Given the description of an element on the screen output the (x, y) to click on. 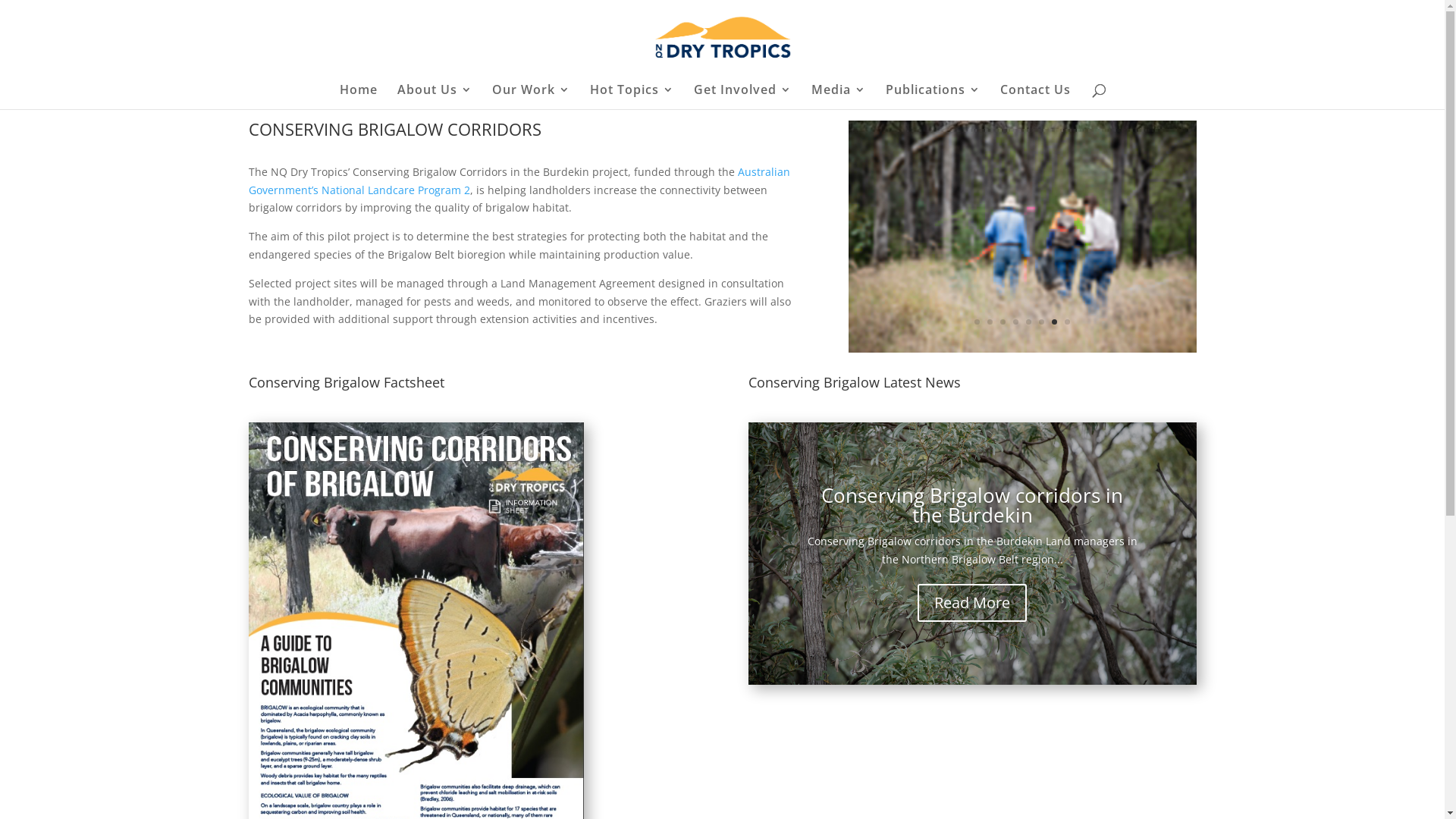
About Us Element type: text (434, 96)
5 Element type: text (1028, 321)
Publications Element type: text (932, 96)
3 Element type: text (1002, 321)
Read More Element type: text (971, 602)
Protecting Brigalow 1 Element type: hover (1022, 348)
Conserving Brigalow corridors in the Burdekin Element type: text (972, 504)
Get Involved Element type: text (741, 96)
7 Element type: text (1054, 321)
Our Work Element type: text (530, 96)
8 Element type: text (1067, 321)
4 Element type: text (1015, 321)
2 Element type: text (989, 321)
Media Element type: text (838, 96)
6 Element type: text (1041, 321)
Home Element type: text (358, 96)
Hot Topics Element type: text (631, 96)
1 Element type: text (976, 321)
Contact Us Element type: text (1034, 96)
